Given the description of an element on the screen output the (x, y) to click on. 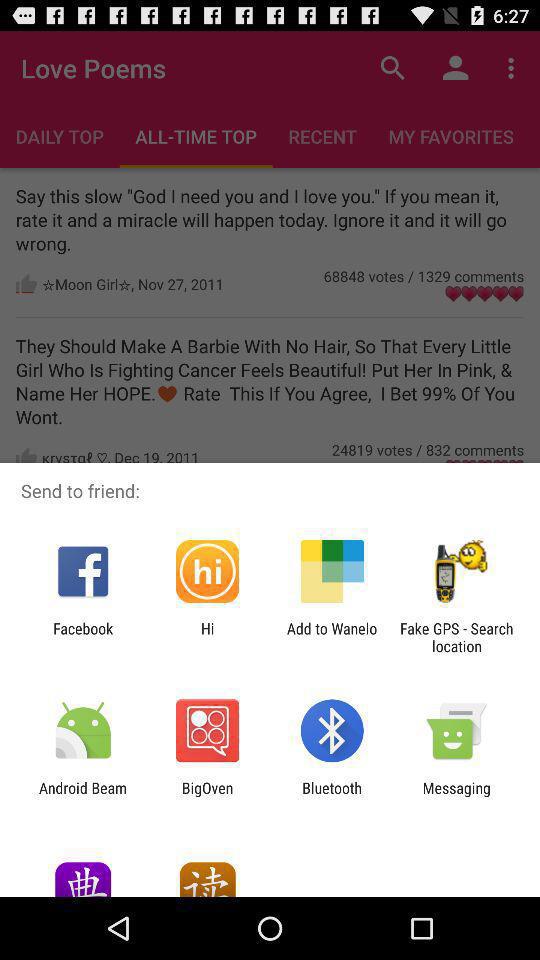
tap app to the right of facebook app (207, 637)
